Given the description of an element on the screen output the (x, y) to click on. 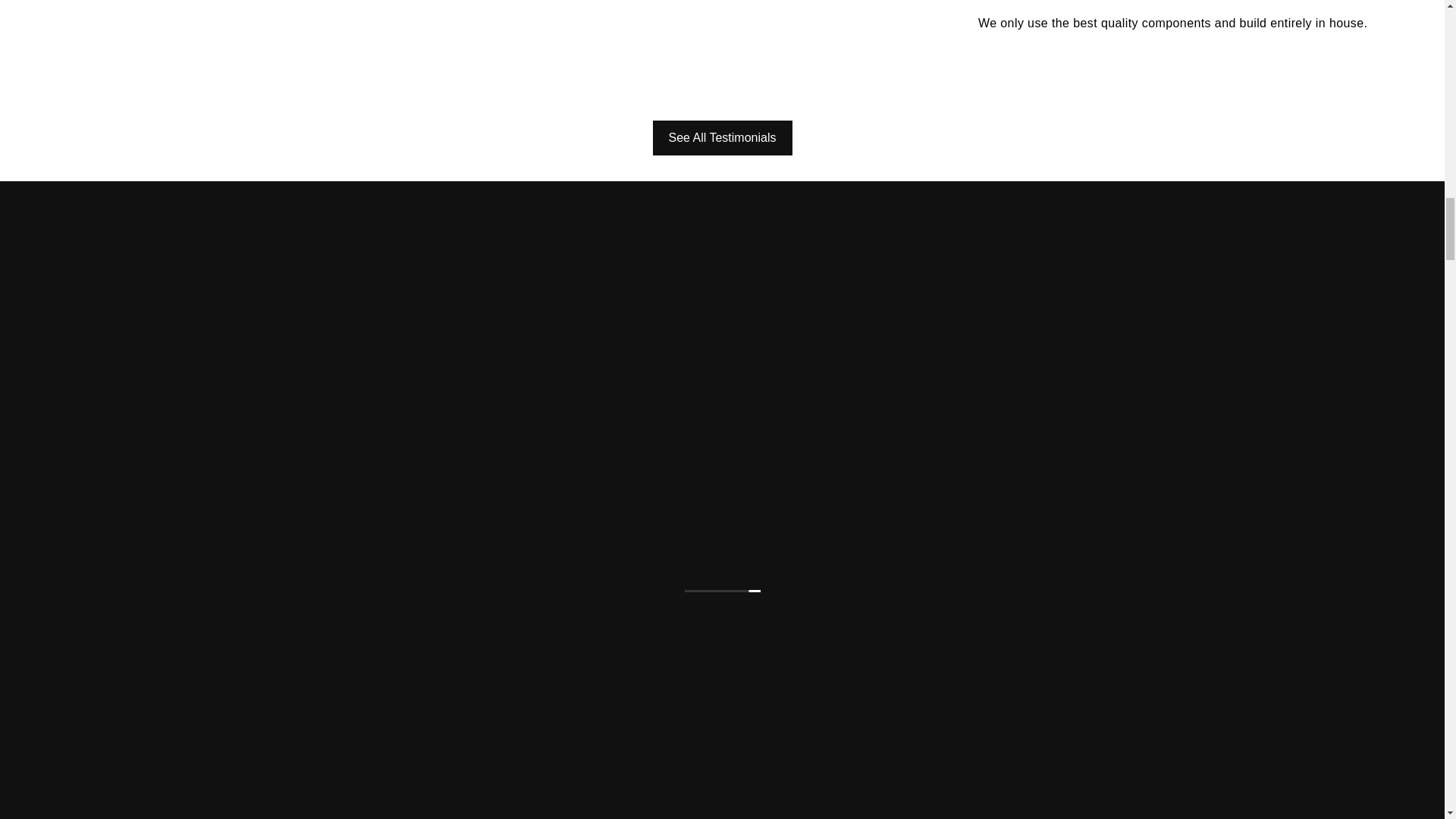
YouTube video player (701, 44)
YouTube video player (212, 44)
